Given the description of an element on the screen output the (x, y) to click on. 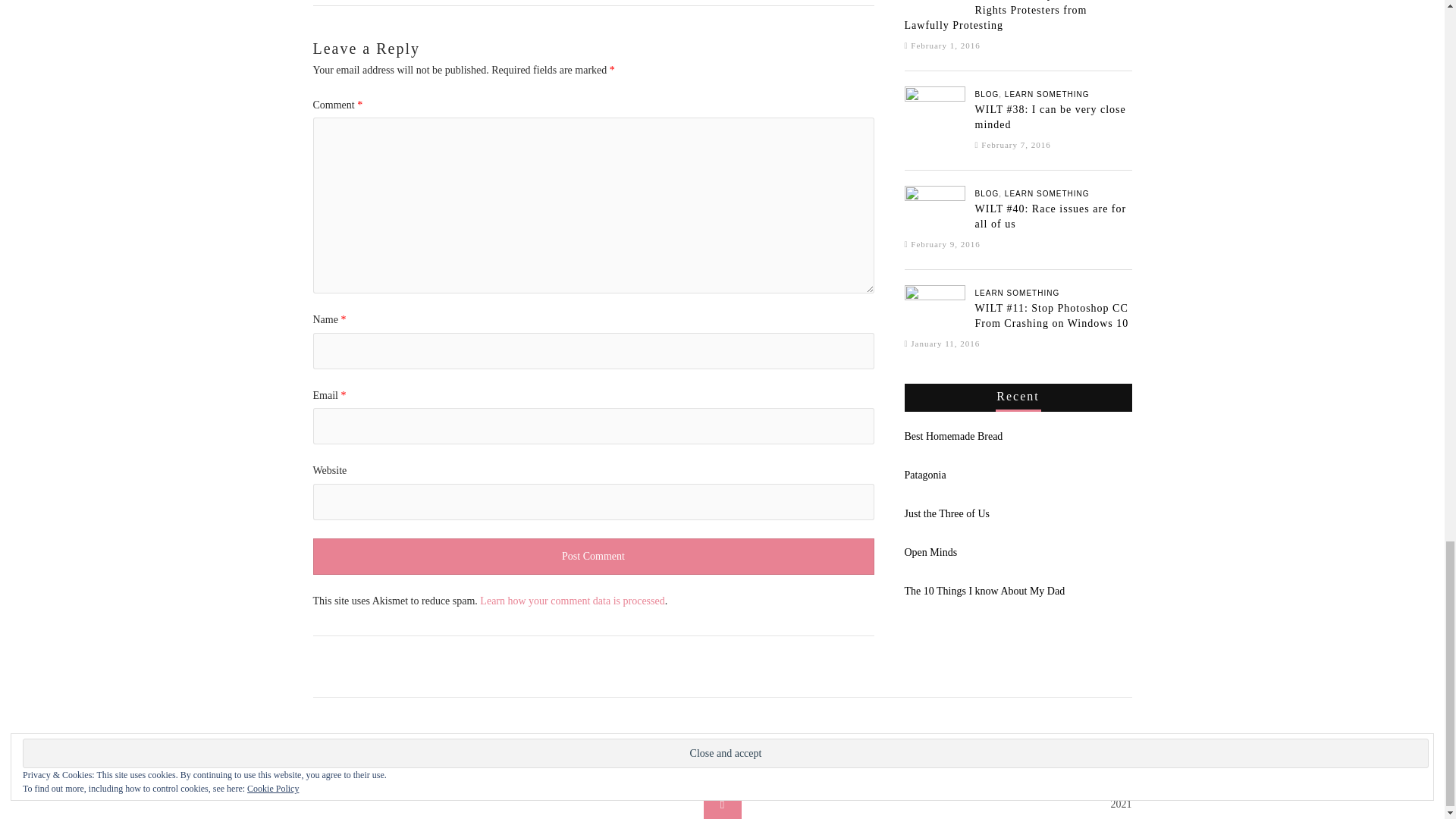
Post Comment (593, 556)
Post Comment (593, 556)
Learn how your comment data is processed (571, 600)
